Given the description of an element on the screen output the (x, y) to click on. 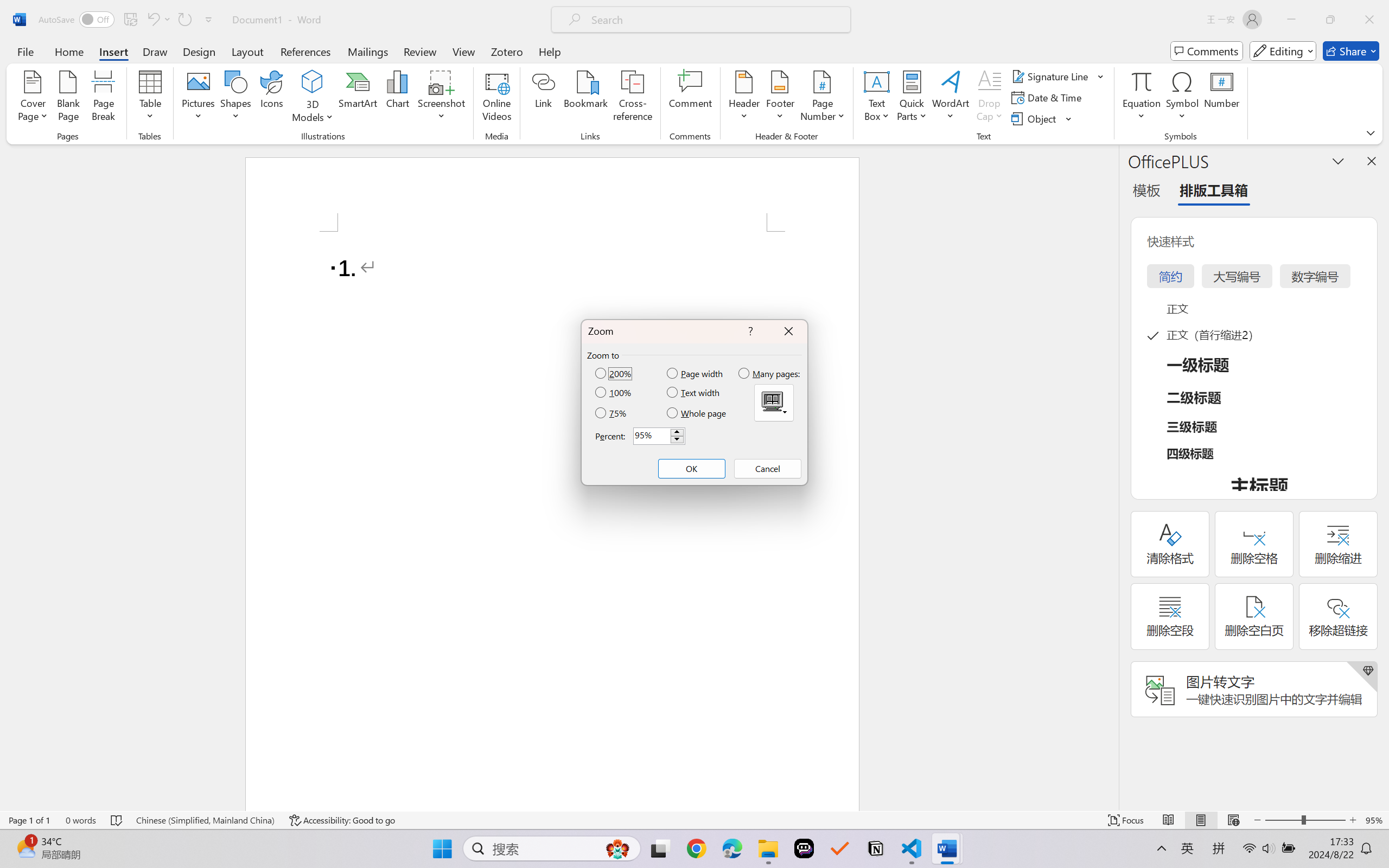
Page Break (103, 97)
Multiple Pages (774, 402)
Table (149, 97)
75% (611, 412)
Quick Parts (912, 97)
OK (691, 468)
Page width (695, 373)
